Given the description of an element on the screen output the (x, y) to click on. 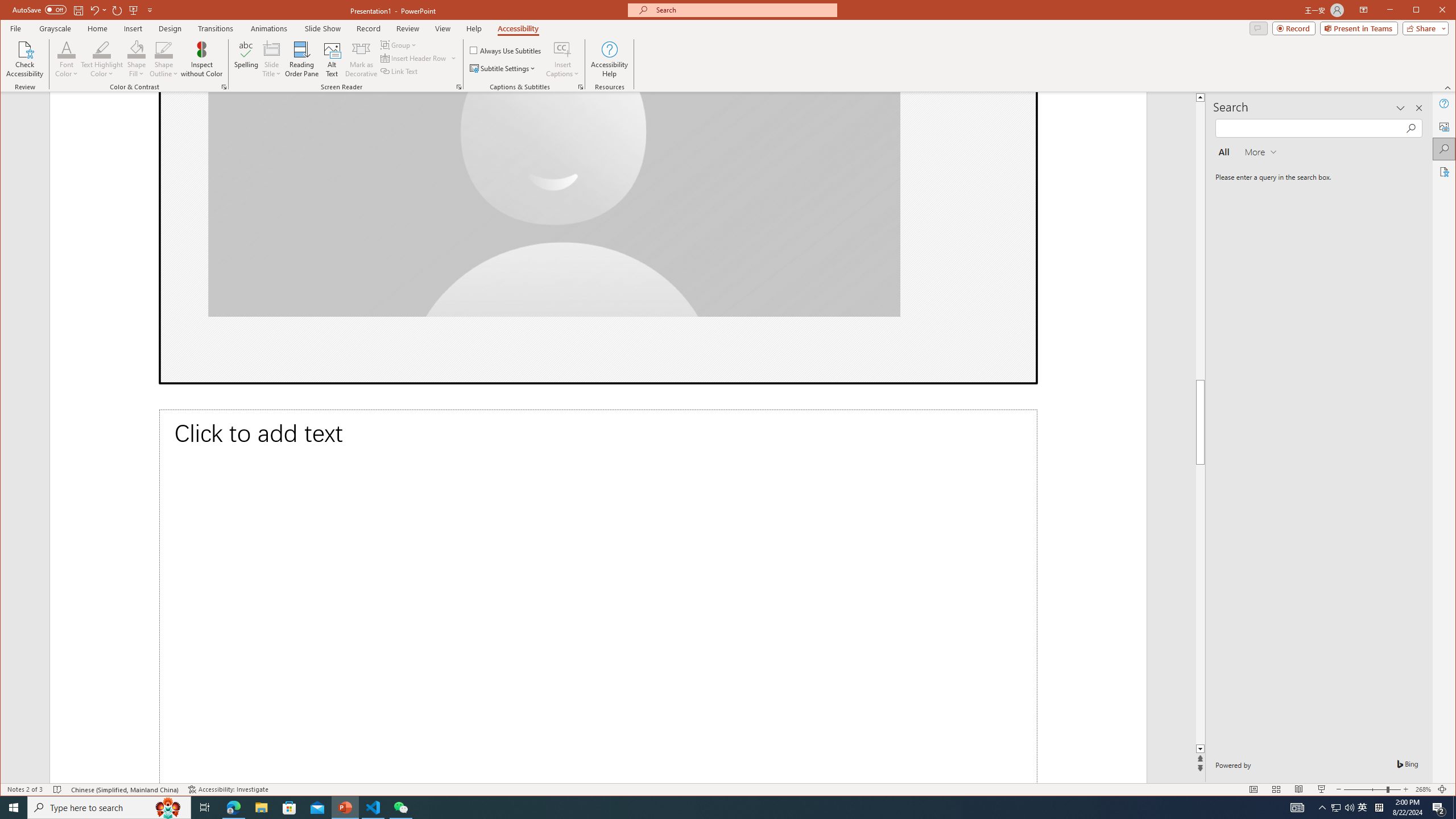
Reading Order Pane (301, 59)
Subtitle Settings (502, 68)
Captions & Subtitles (580, 86)
